Given the description of an element on the screen output the (x, y) to click on. 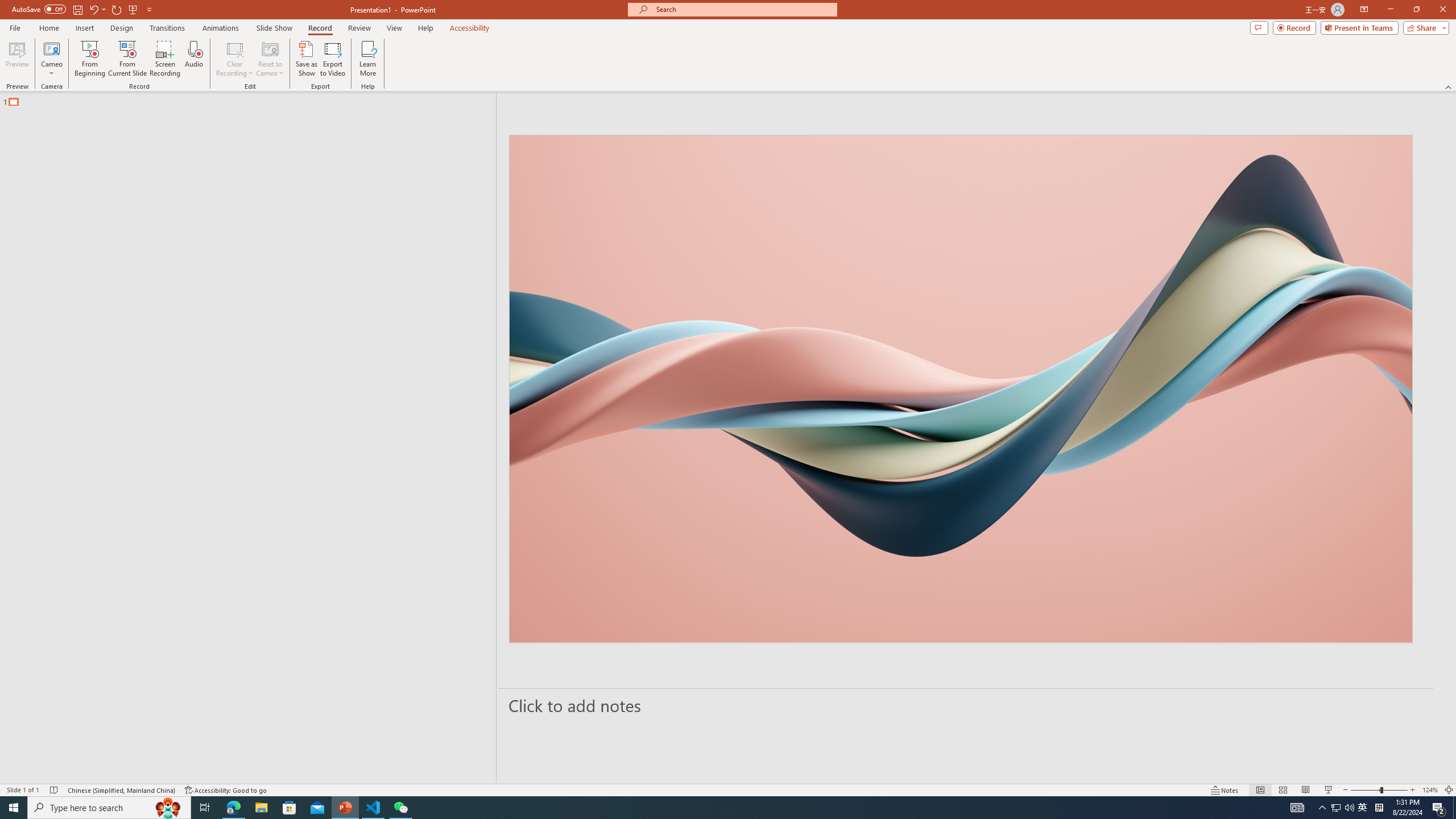
Learn More (368, 58)
Outline (252, 99)
